Given the description of an element on the screen output the (x, y) to click on. 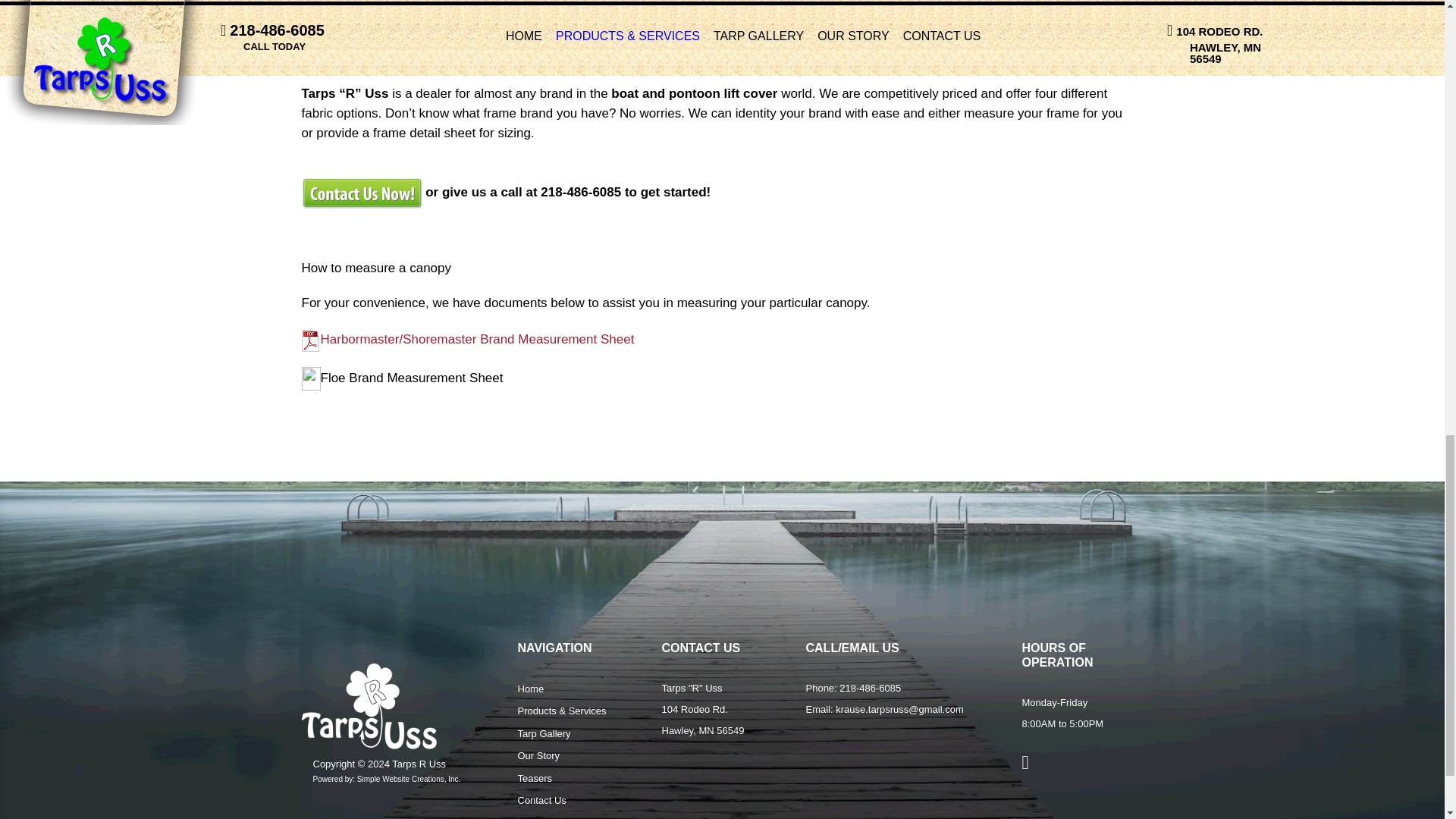
Our Story (537, 755)
Previous (509, 20)
Contact Us (541, 799)
Powered by: Simple Website Creations, Inc. (386, 778)
Tarp Gallery (543, 733)
Home (529, 688)
Next (934, 20)
Teasers (533, 778)
